Given the description of an element on the screen output the (x, y) to click on. 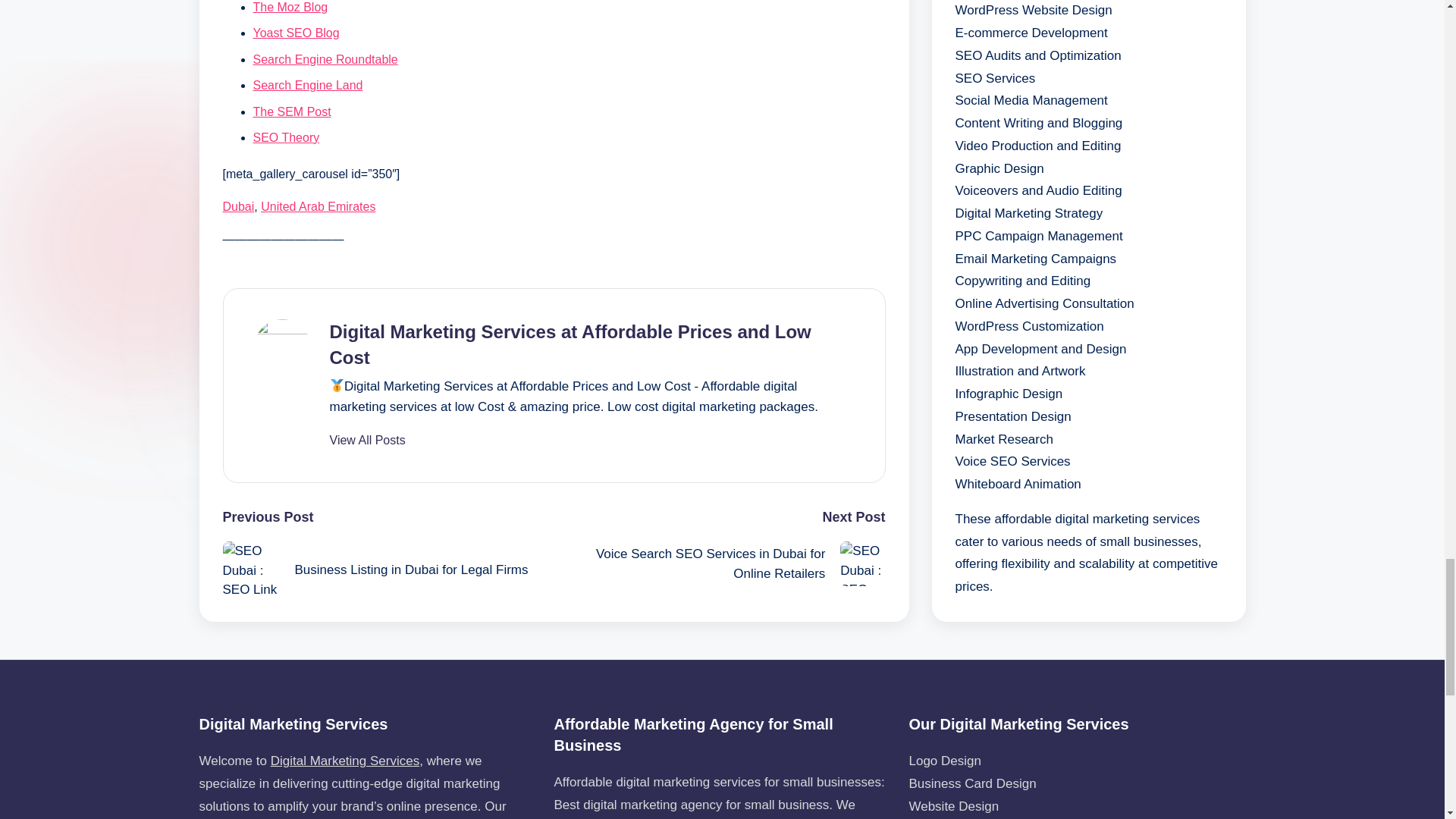
Dubai (238, 205)
Search Engine Land (307, 84)
Digital Marketing Services at Affordable Prices and Low Cost (569, 344)
View All Posts (366, 440)
SEO Theory (286, 137)
The Moz Blog (291, 6)
Digital Marketing Services (345, 760)
Yoast SEO Blog (296, 32)
Business Listing in Dubai for Legal Firms (388, 569)
The SEM Post (292, 111)
Search Engine Roundtable (325, 59)
Voice Search SEO Services in Dubai for Online Retailers (719, 563)
United Arab Emirates (317, 205)
